Given the description of an element on the screen output the (x, y) to click on. 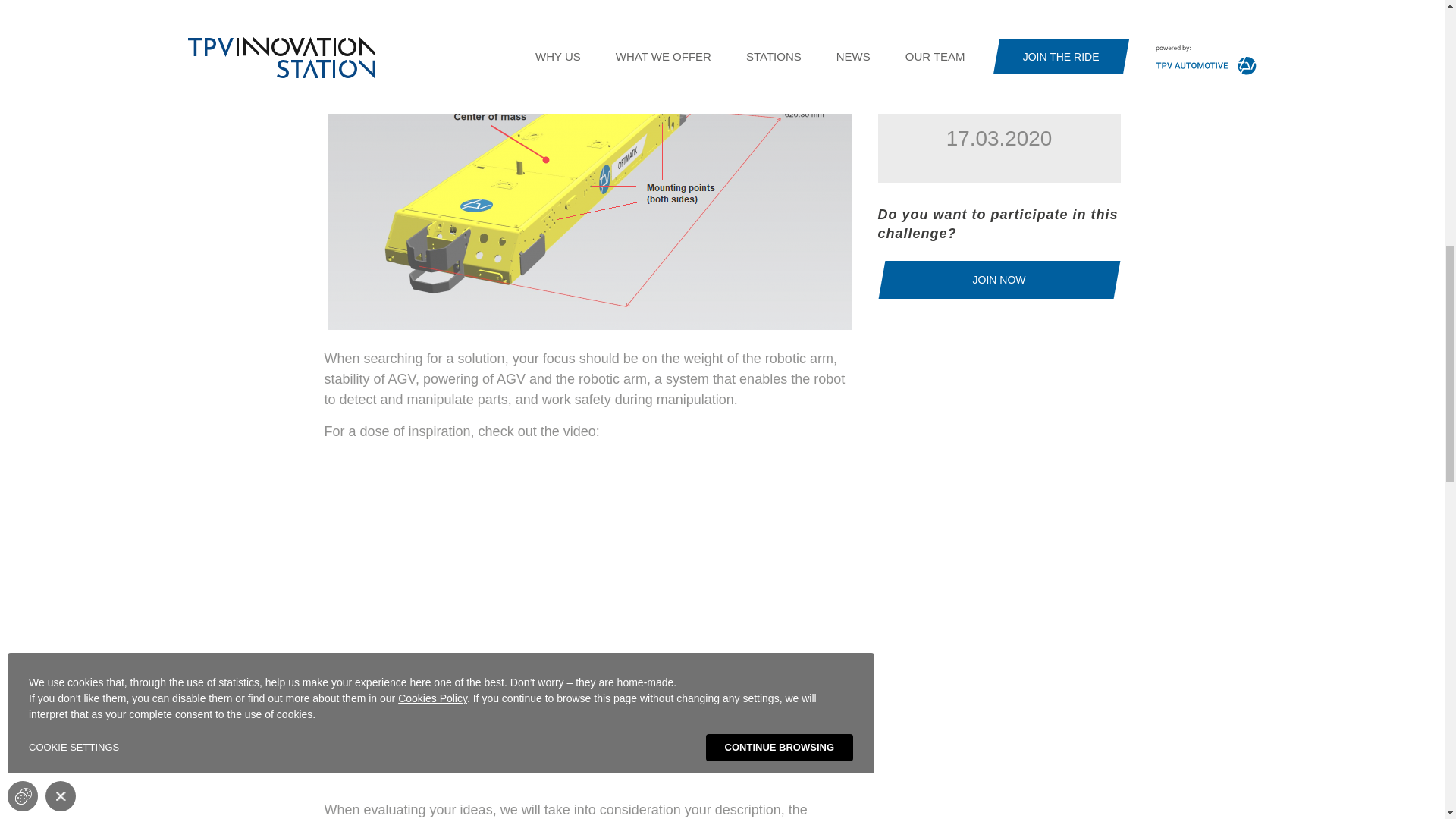
JOIN NOW (999, 279)
